Given the description of an element on the screen output the (x, y) to click on. 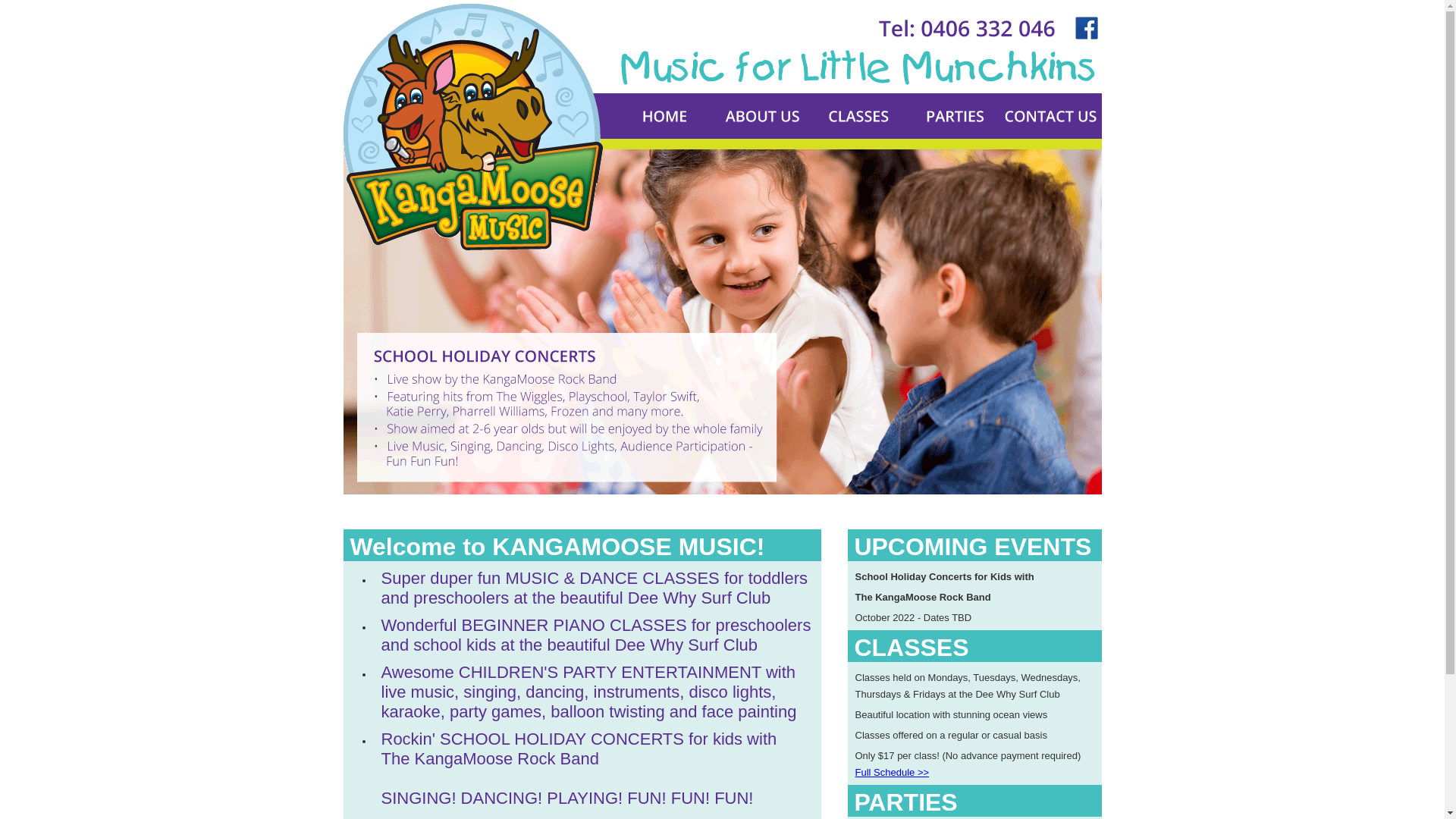
Full Schedule >> Element type: text (892, 772)
